Given the description of an element on the screen output the (x, y) to click on. 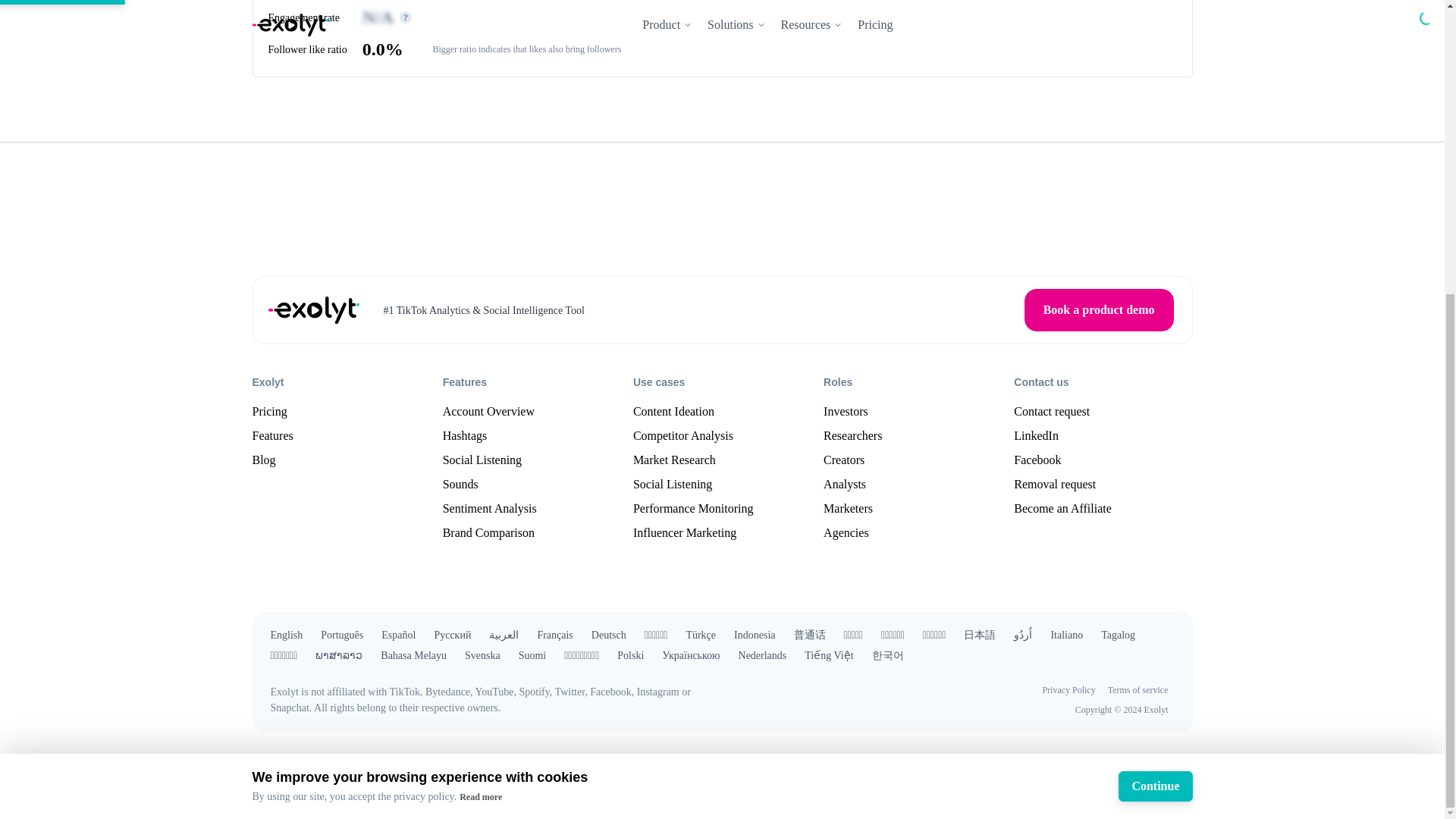
Features (271, 435)
Pricing (268, 411)
Blog (263, 460)
Book a product demo (1099, 310)
Account Overview (488, 411)
